Given the description of an element on the screen output the (x, y) to click on. 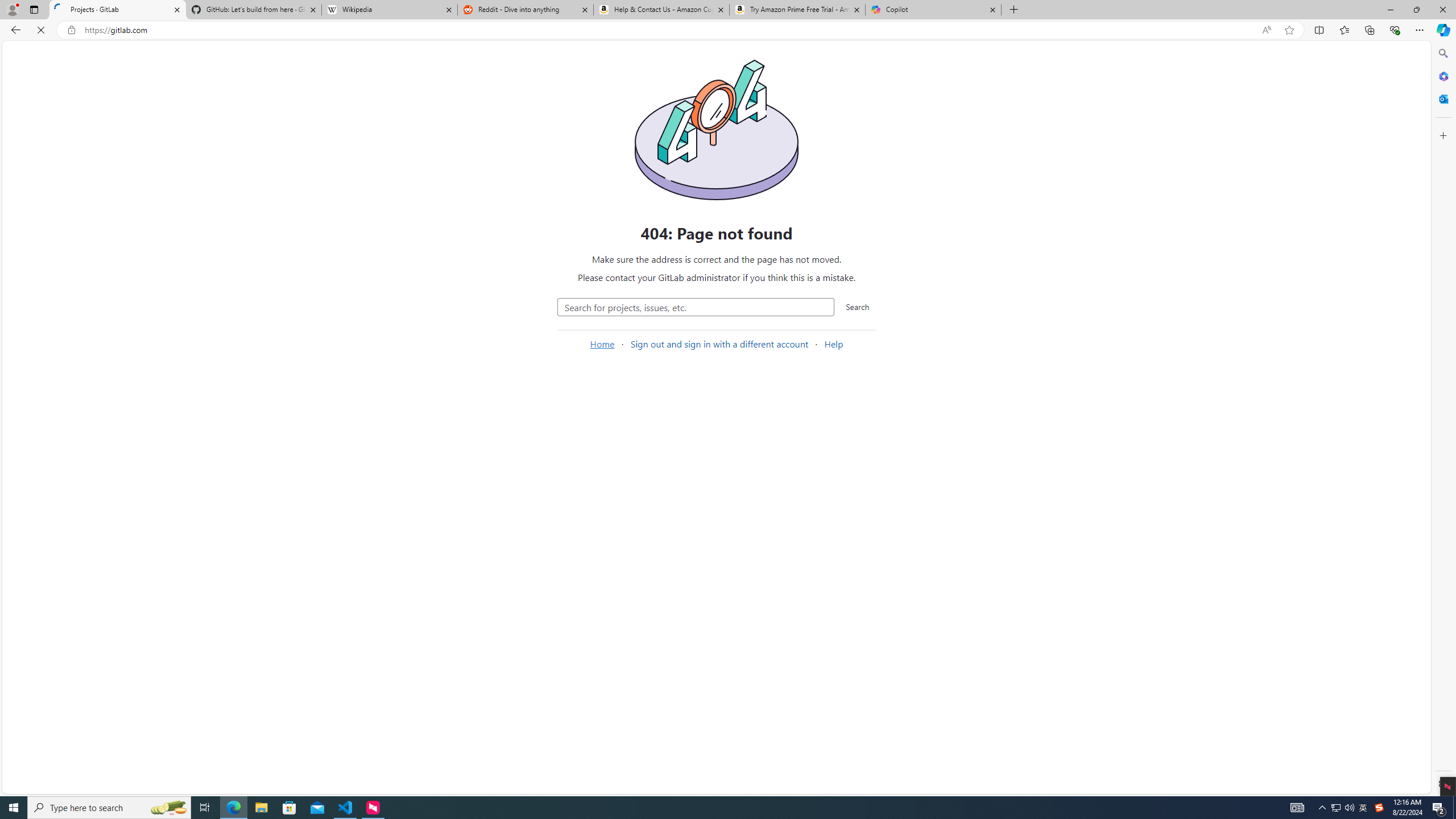
Help & Contact Us - Amazon Customer Service (660, 9)
Primary navigation sidebar (94, 54)
Class: s14 gl-mr-2 (1132, 289)
Toggle history (460, 253)
11 / 1Owner0000Updated 6 minutes ago (788, 295)
Environments (74, 321)
Homepage (16, 54)
Your work/ (183, 53)
To-Do List (74, 224)
